Given the description of an element on the screen output the (x, y) to click on. 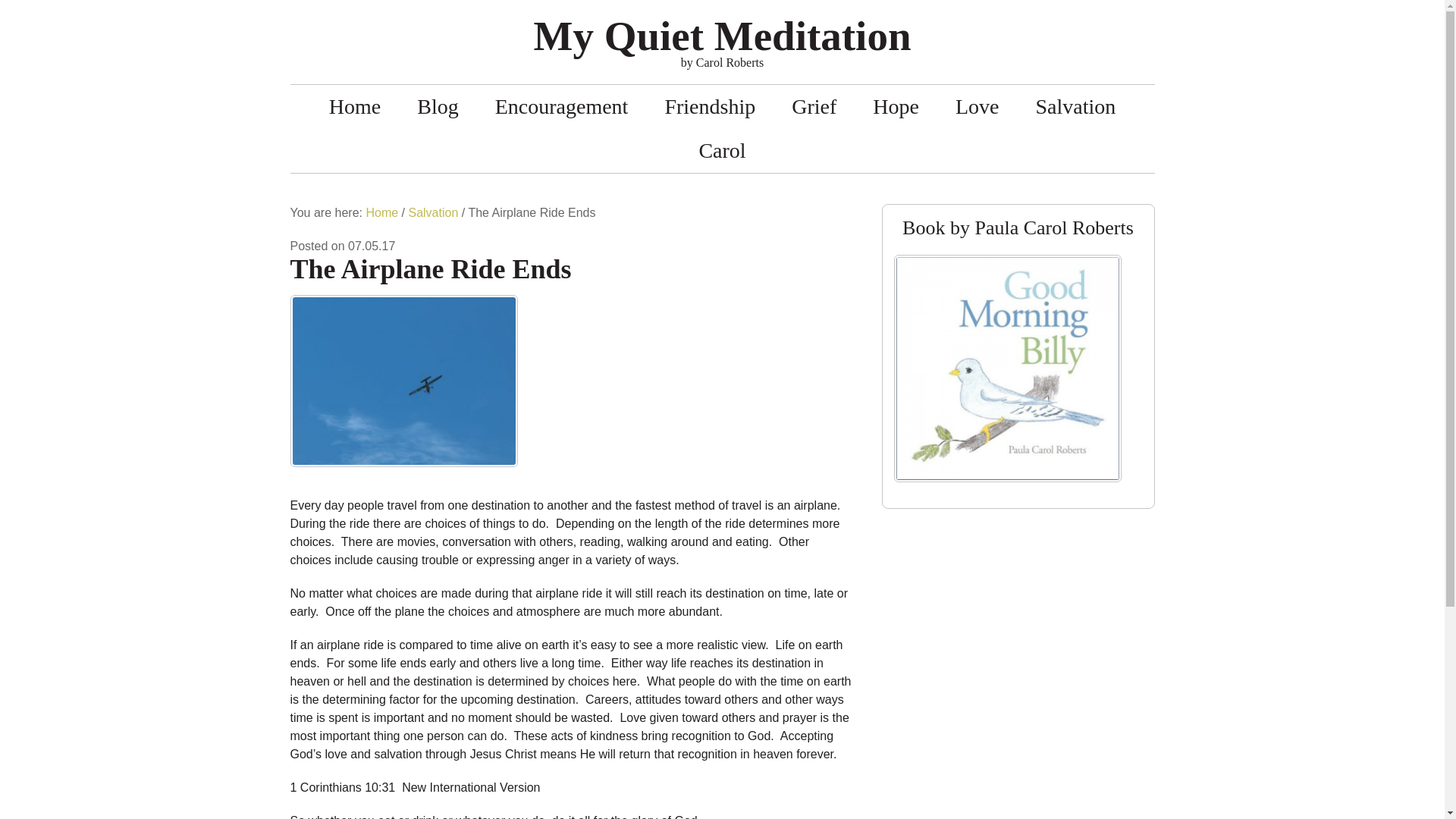
Home (354, 106)
Hope (895, 106)
Love (977, 106)
My Quiet Meditation (722, 35)
Blog (437, 106)
Carol (720, 150)
Encouragement (561, 106)
Grief (813, 106)
Home (381, 212)
Salvation (1075, 106)
